Given the description of an element on the screen output the (x, y) to click on. 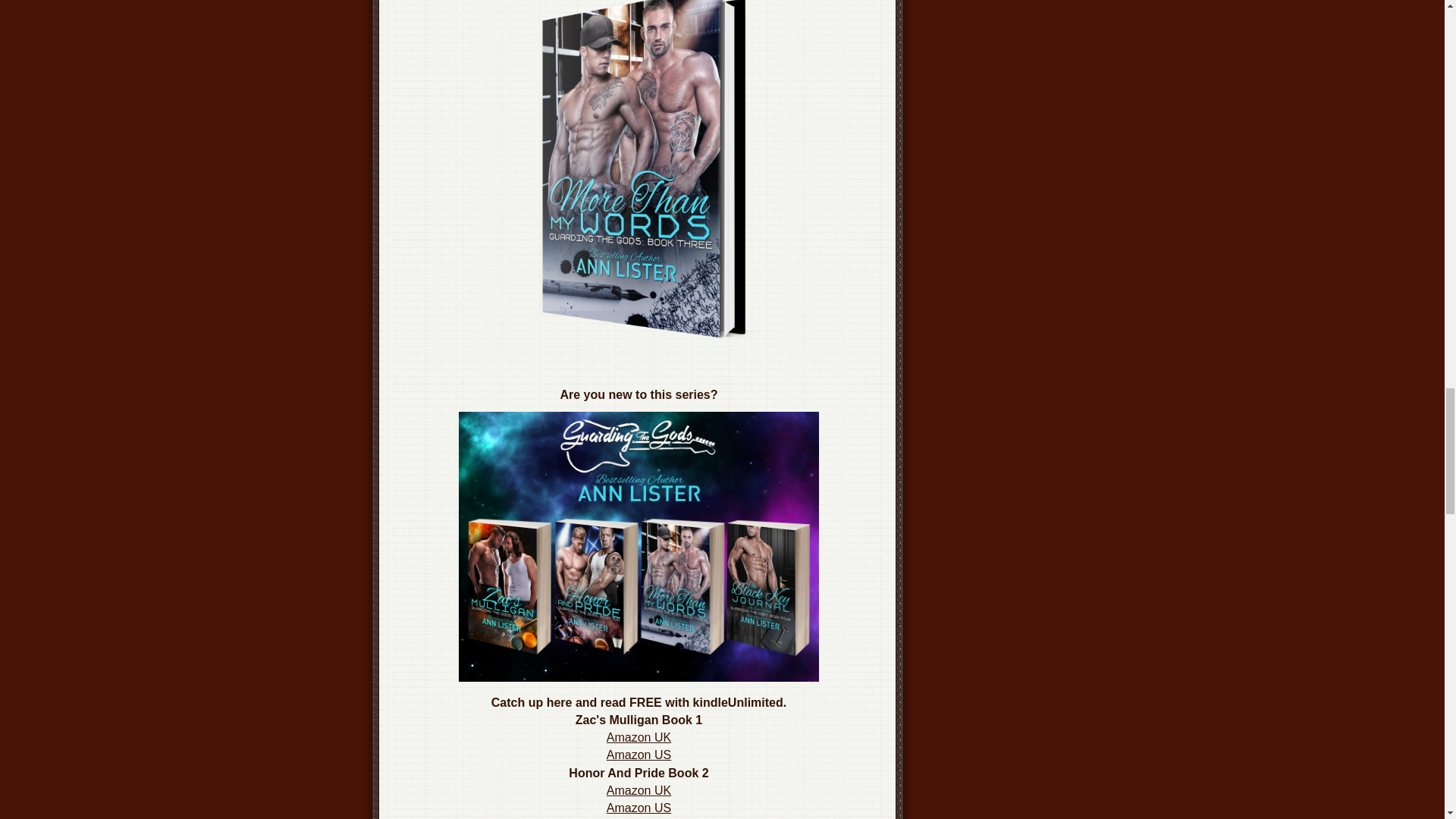
Amazon UK (639, 789)
Amazon US (639, 754)
Amazon US (639, 807)
Amazon UK (639, 737)
